Given the description of an element on the screen output the (x, y) to click on. 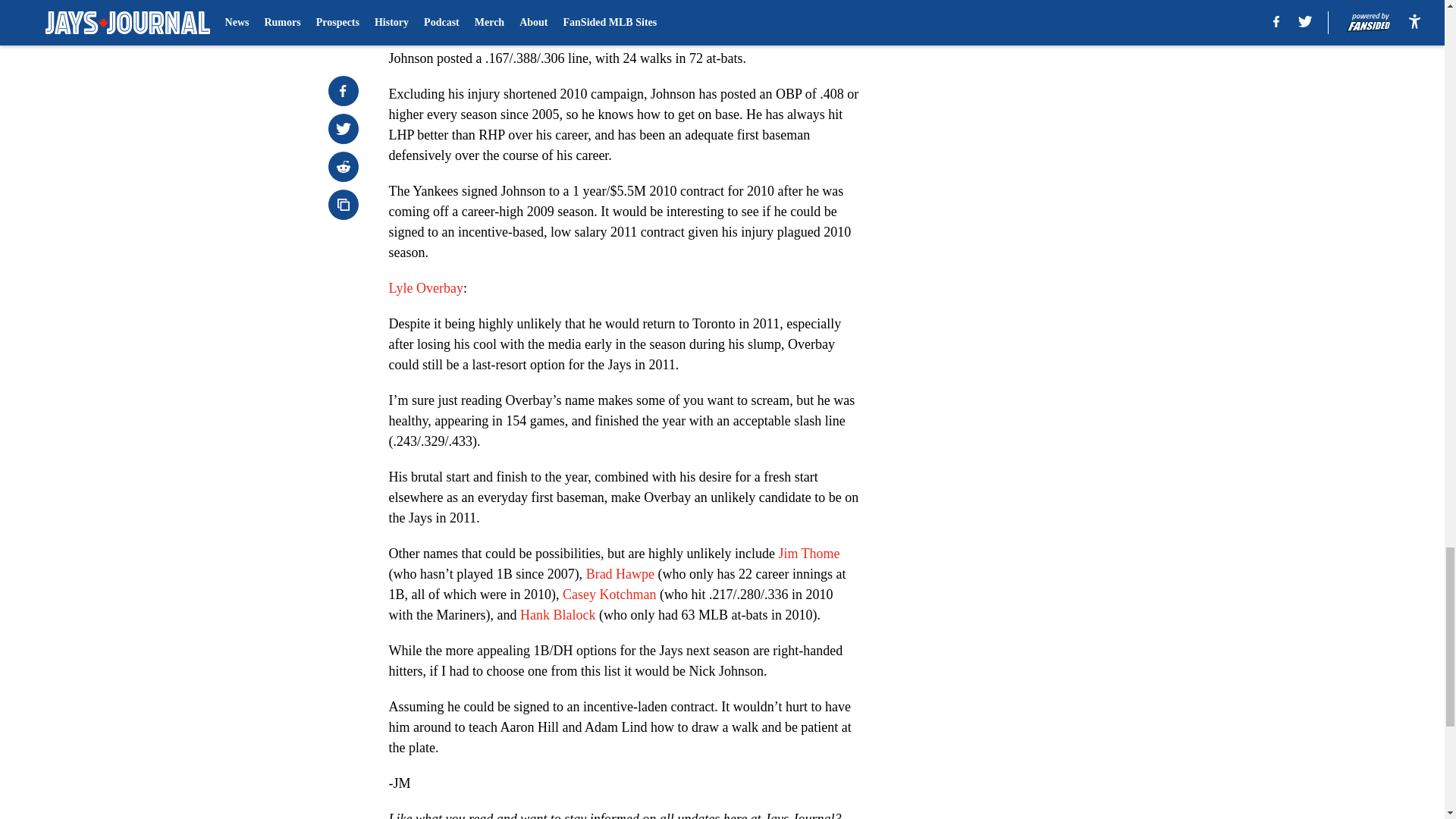
Hank Blalock (557, 614)
Brad Hawpe (619, 573)
Casey Kotchman (609, 594)
Lyle Overbay (425, 287)
Jim Thome (808, 553)
